Given the description of an element on the screen output the (x, y) to click on. 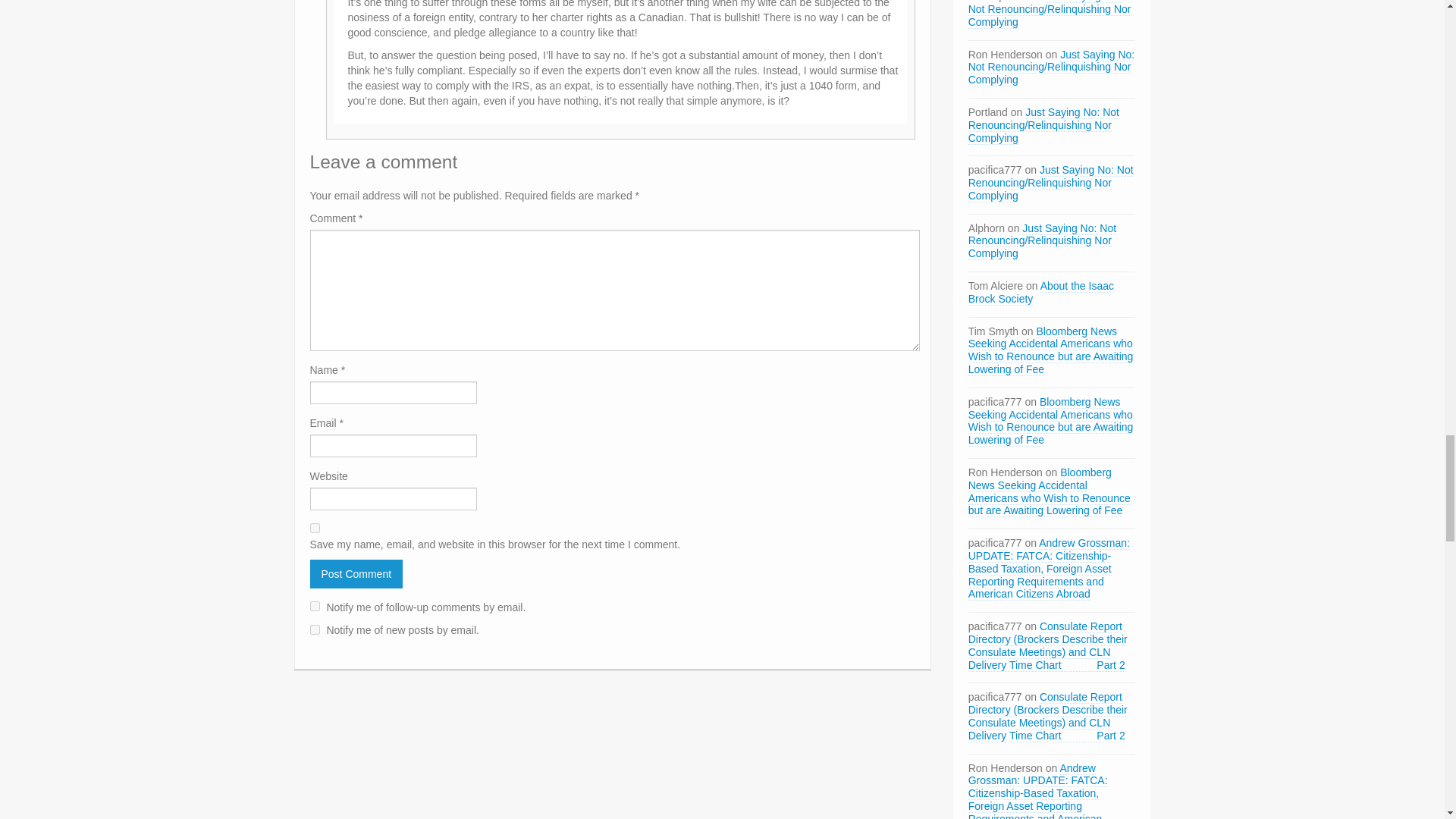
subscribe (313, 629)
yes (313, 528)
Post Comment (355, 573)
Post Comment (355, 573)
subscribe (313, 605)
